Given the description of an element on the screen output the (x, y) to click on. 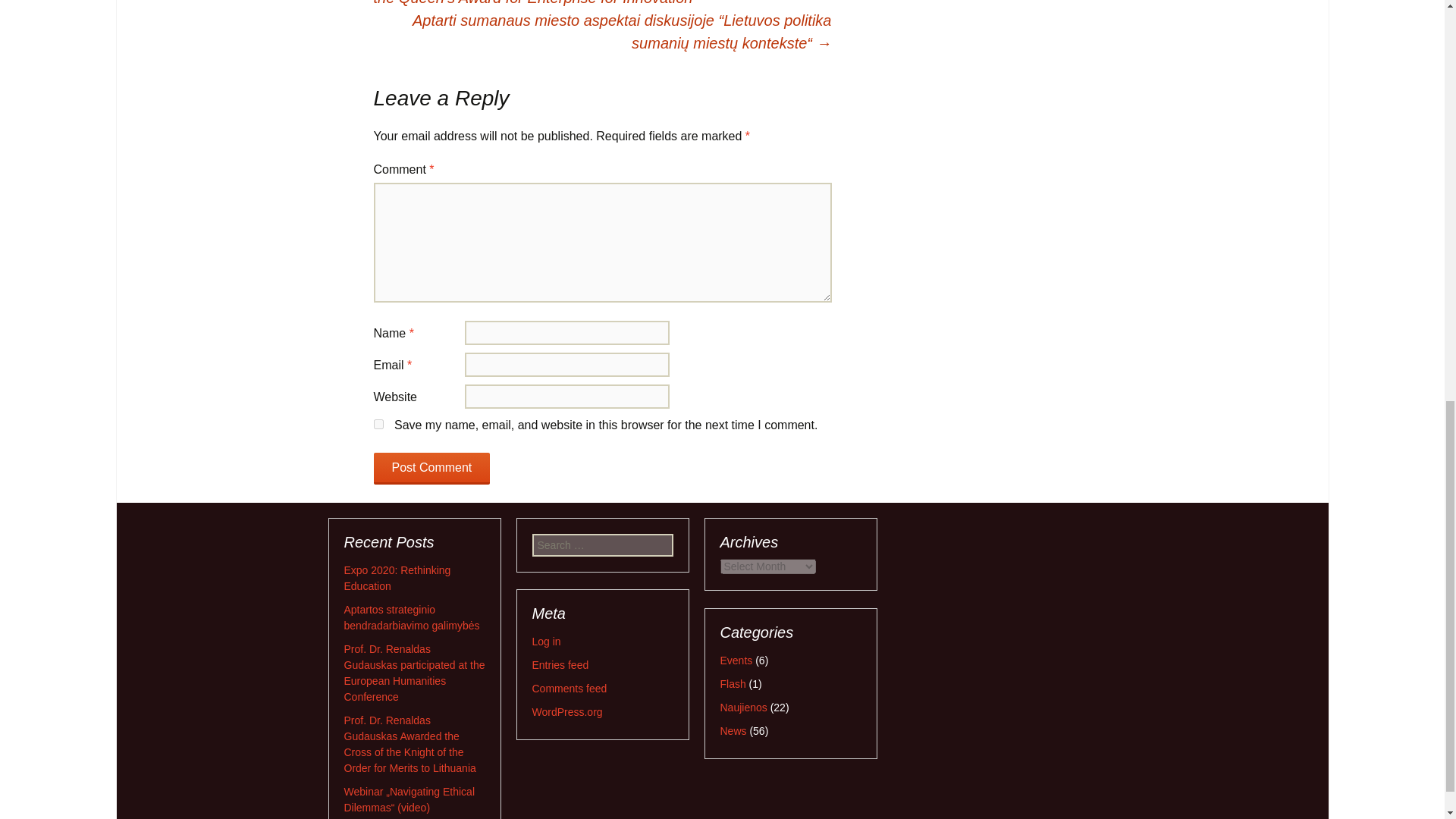
yes (377, 424)
Post Comment (430, 468)
Post Comment (430, 468)
